Given the description of an element on the screen output the (x, y) to click on. 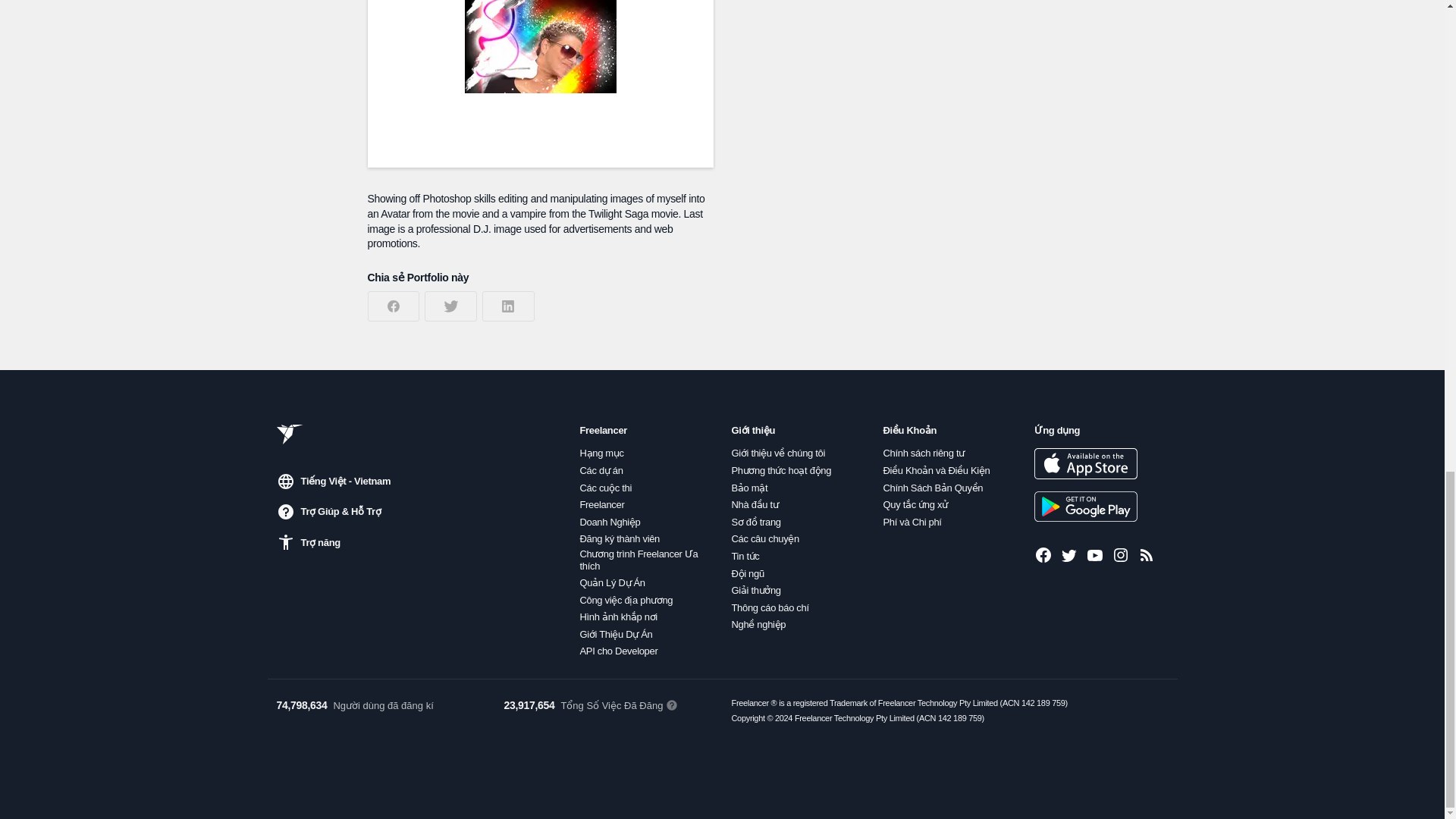
API cho Developer (618, 651)
Freelancer (601, 504)
